Given the description of an element on the screen output the (x, y) to click on. 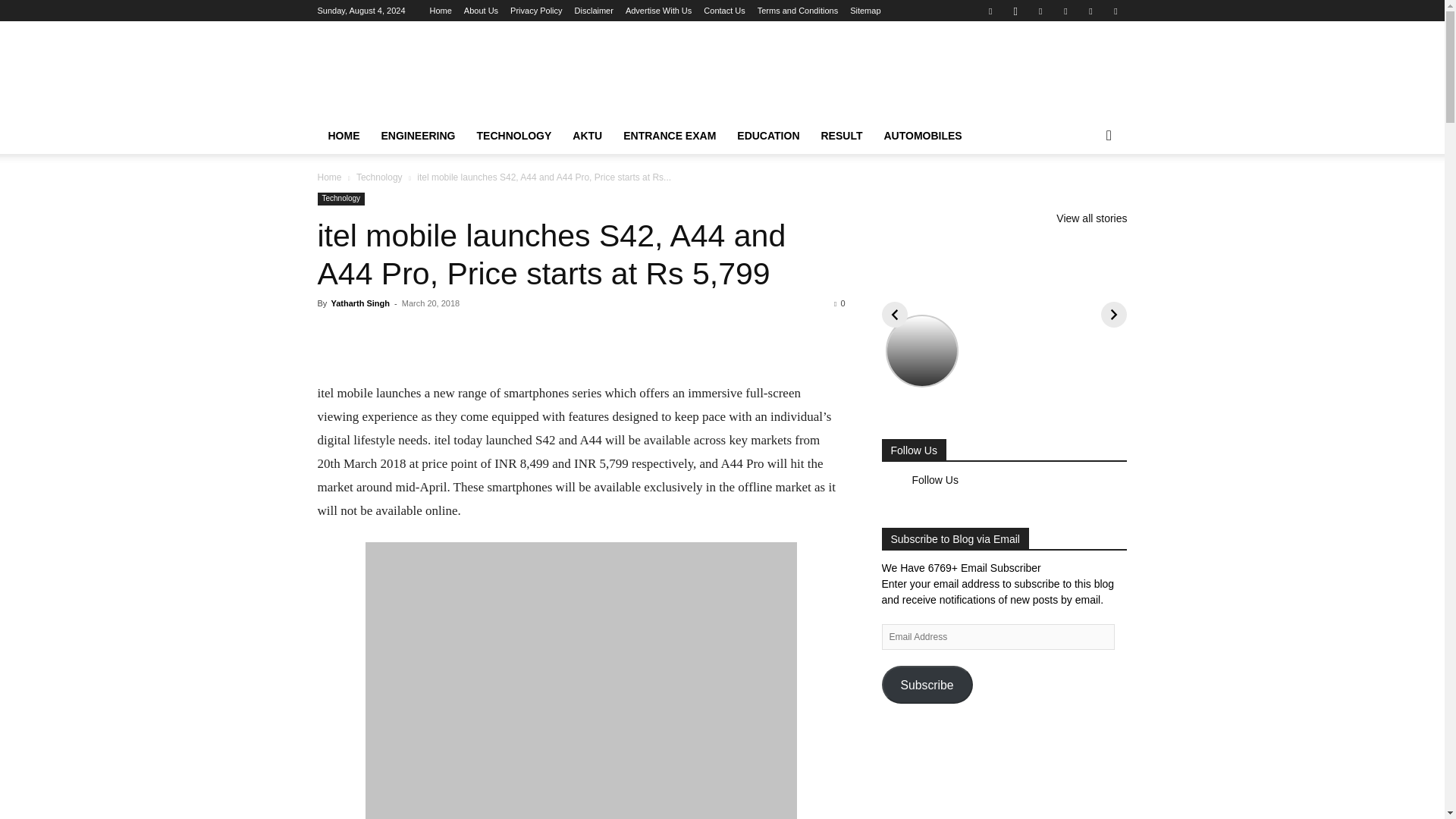
Linkedin (1040, 10)
Twitter (1090, 10)
Instagram (1015, 10)
Youtube (1114, 10)
Facebook (989, 10)
Home (440, 10)
Paypal (1065, 10)
